Given the description of an element on the screen output the (x, y) to click on. 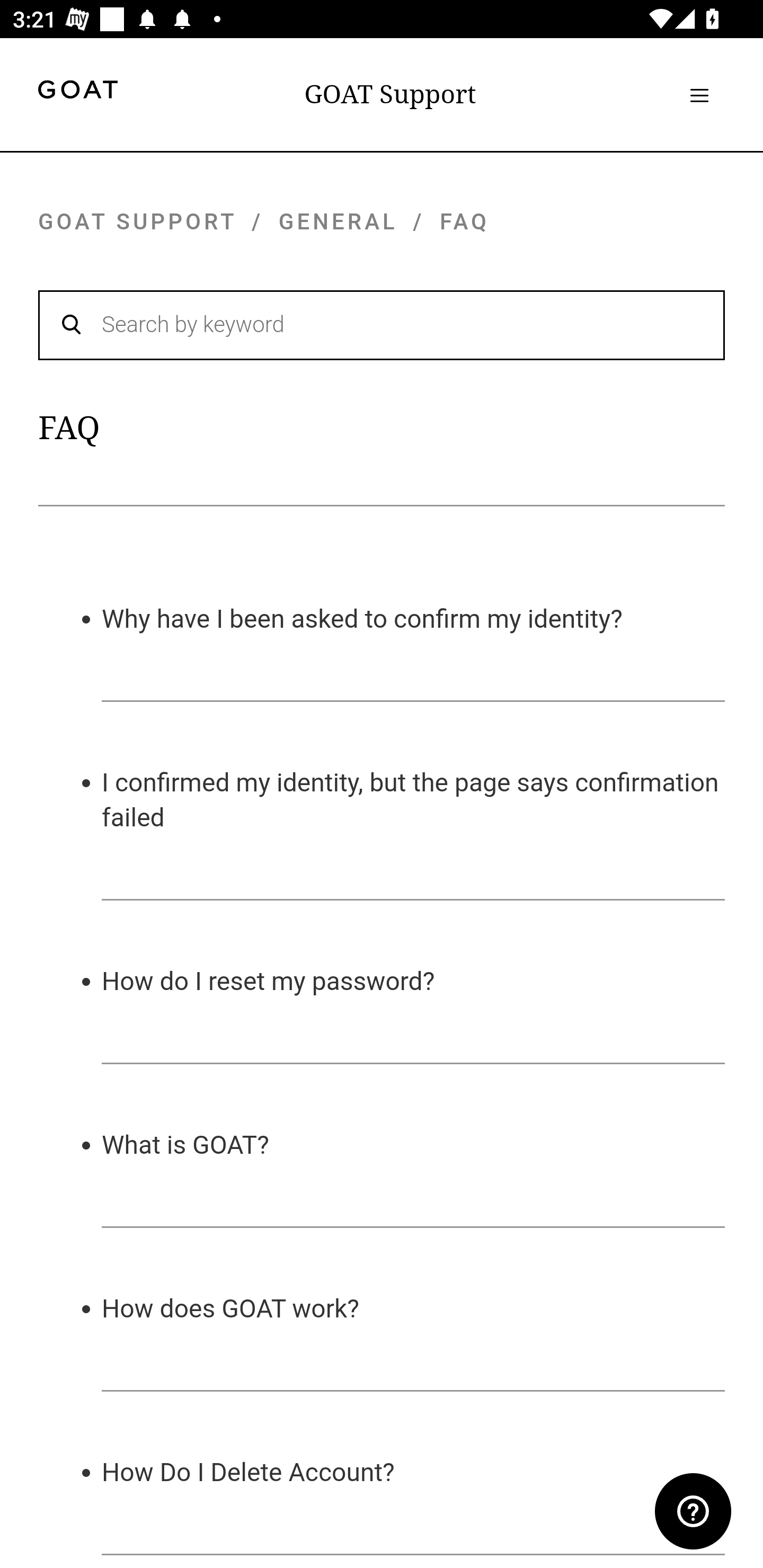
goat header logo (77, 92)
Toggle navigation menu (698, 94)
GOAT Support (389, 94)
GOAT SUPPORT (137, 221)
GENERAL (338, 221)
FAQ (463, 221)
Why have I been asked to confirm my identity? (362, 617)
How do I reset my password? (268, 979)
What is GOAT? (185, 1144)
How does GOAT work? (230, 1307)
How Do I Delete Account? (248, 1471)
Opens a widget where you can find more information (692, 1512)
